Given the description of an element on the screen output the (x, y) to click on. 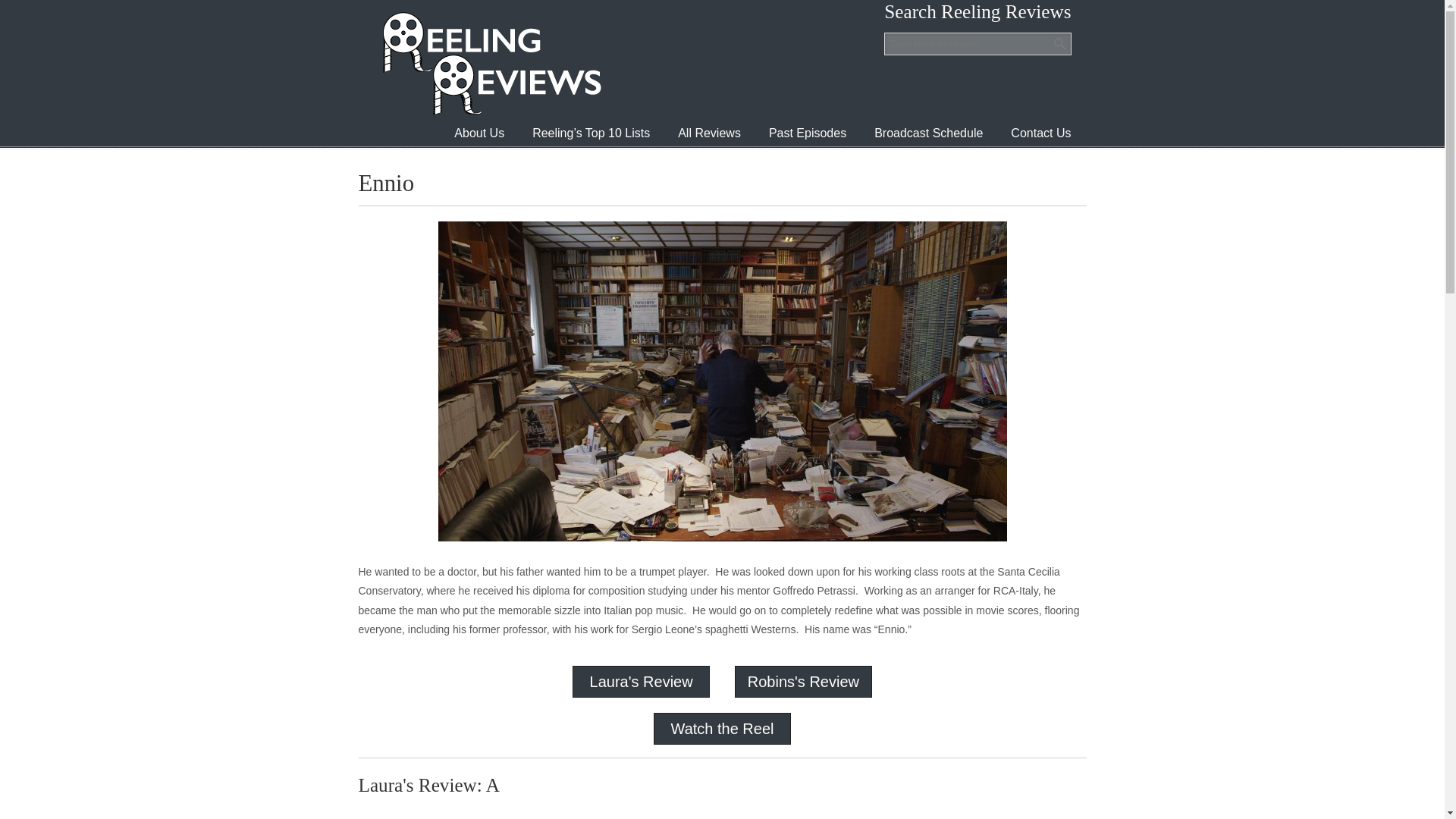
Watch the Reel (721, 728)
Contact Us (1040, 133)
Broadcast Schedule (928, 133)
Past Episodes (807, 133)
About Us (479, 133)
Reeling Reviews (489, 63)
All Reviews (708, 133)
Robins's Review (803, 681)
Reeling Reviews (489, 63)
Laura's Review (641, 681)
